Given the description of an element on the screen output the (x, y) to click on. 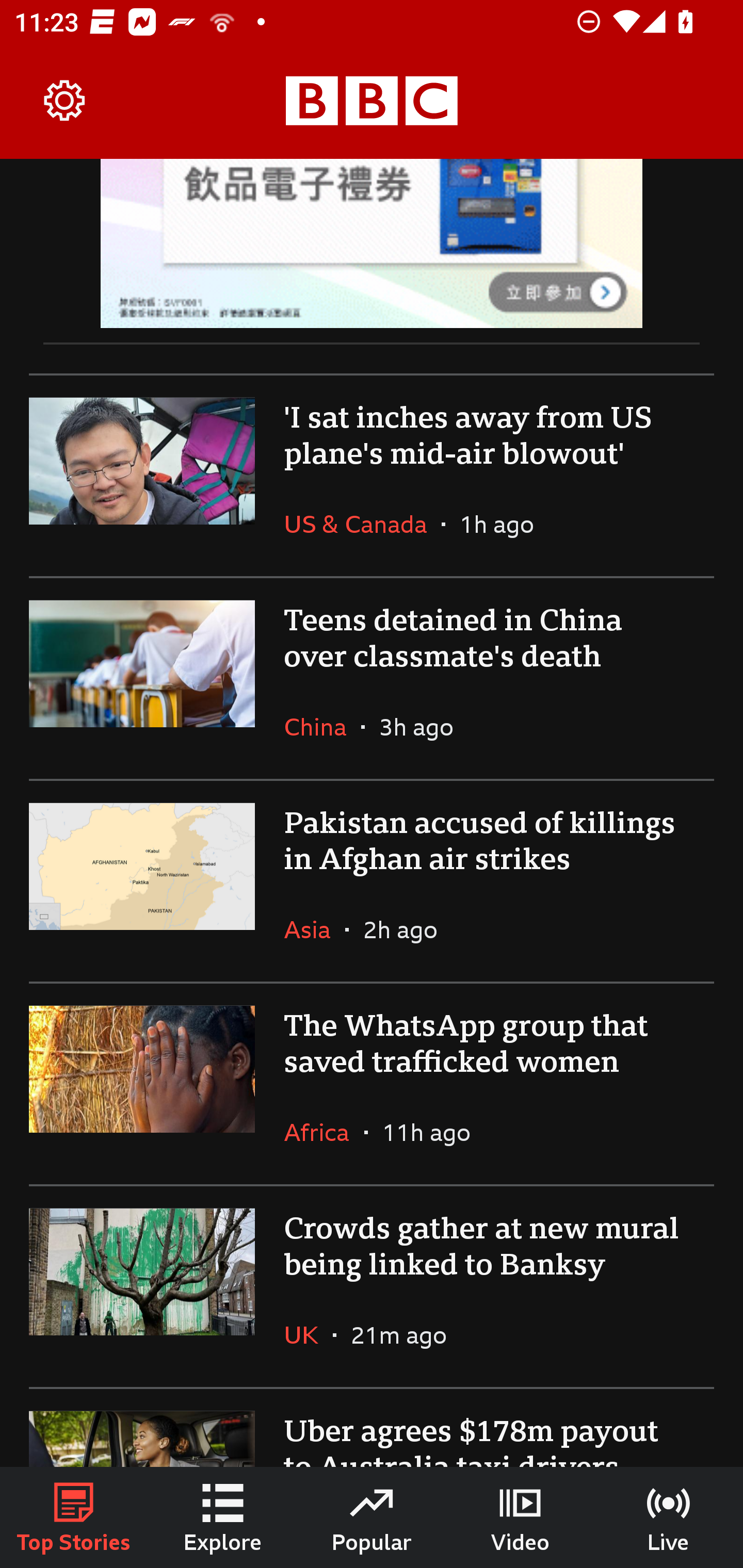
Settings (64, 100)
Advertisement (371, 243)
US & Canada In the section US & Canada (362, 523)
China In the section China (322, 726)
Asia In the section Asia (314, 929)
Africa In the section Africa (323, 1131)
UK In the section UK (307, 1334)
Explore (222, 1517)
Popular (371, 1517)
Video (519, 1517)
Live (668, 1517)
